Given the description of an element on the screen output the (x, y) to click on. 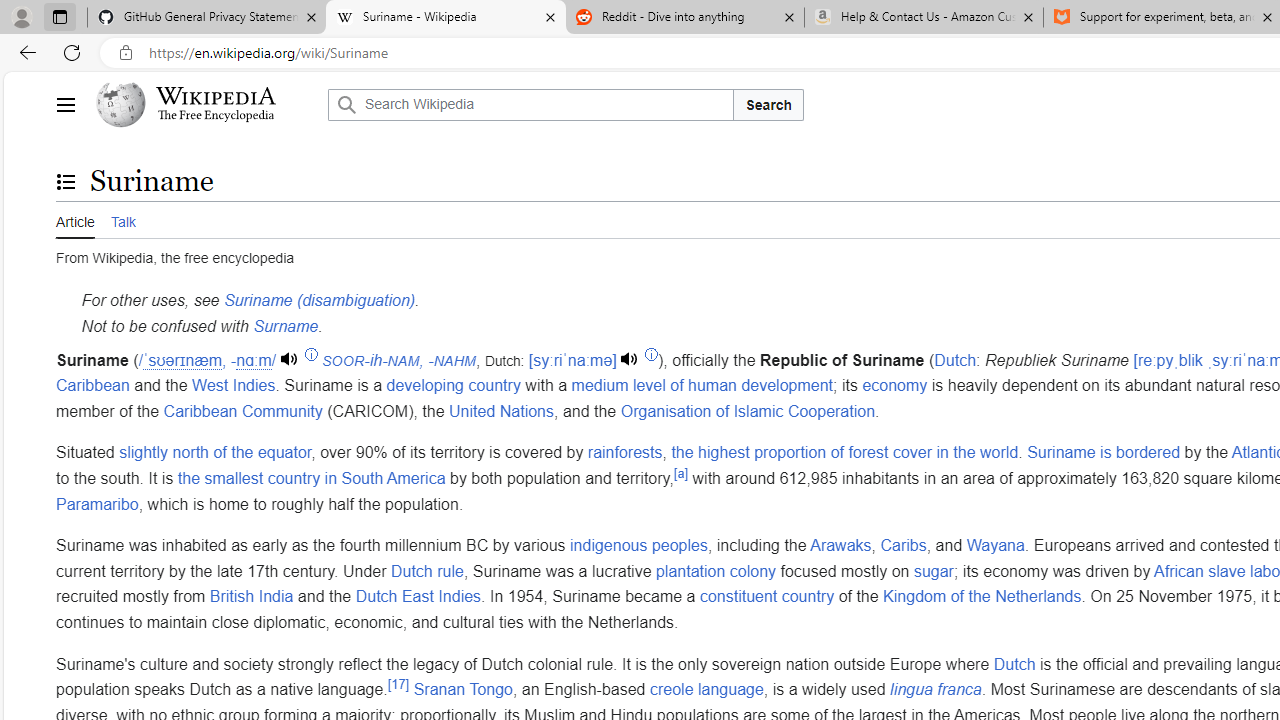
indigenous peoples (638, 546)
Article (75, 219)
Main menu (65, 104)
Paramaribo (97, 503)
Caribbean (93, 386)
creole language (706, 690)
Search Wikipedia (530, 104)
constituent country (766, 597)
the highest proportion of forest cover in the world (844, 453)
Arawaks (840, 546)
